Given the description of an element on the screen output the (x, y) to click on. 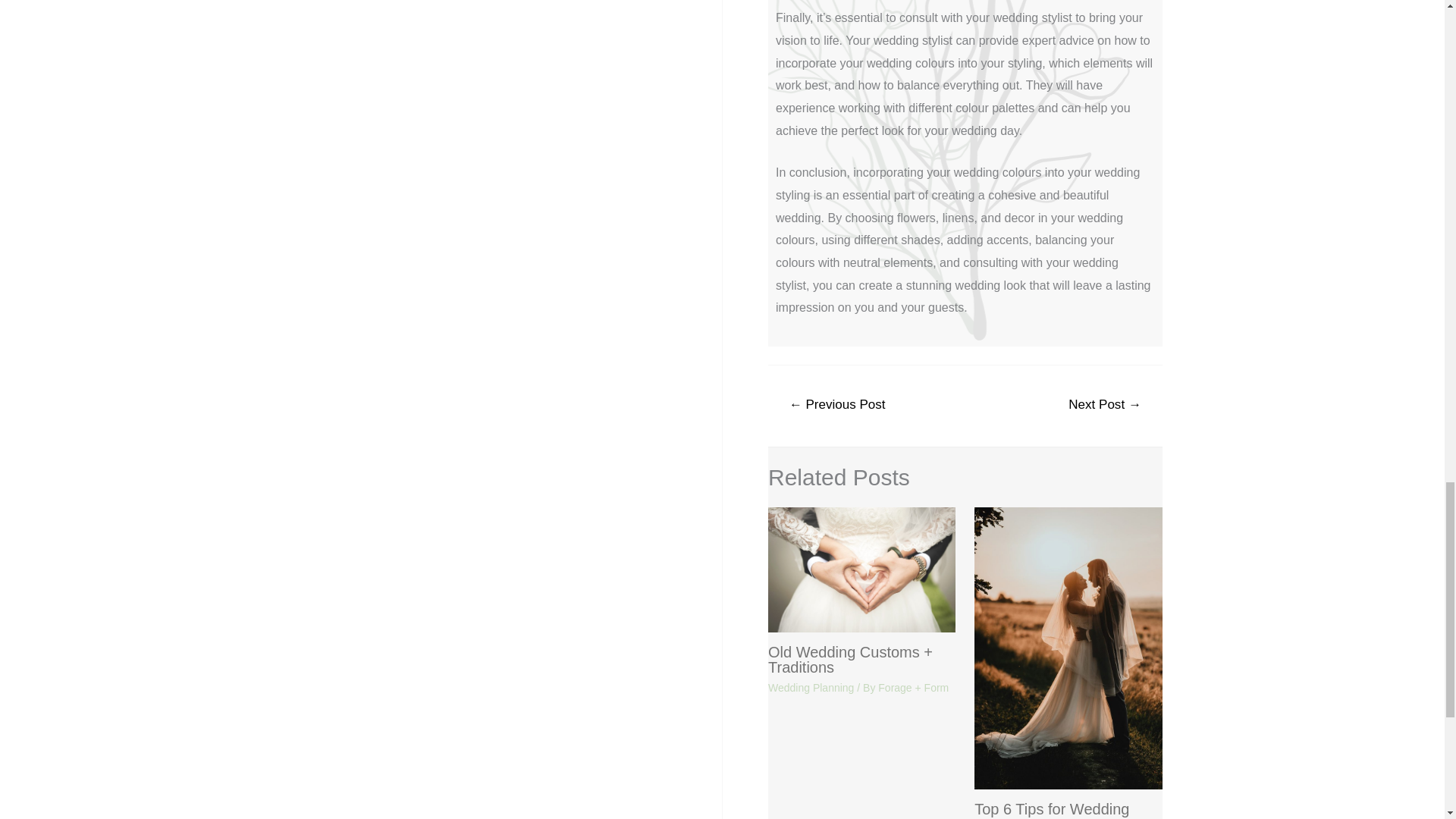
Wedding Planning (810, 687)
